Given the description of an element on the screen output the (x, y) to click on. 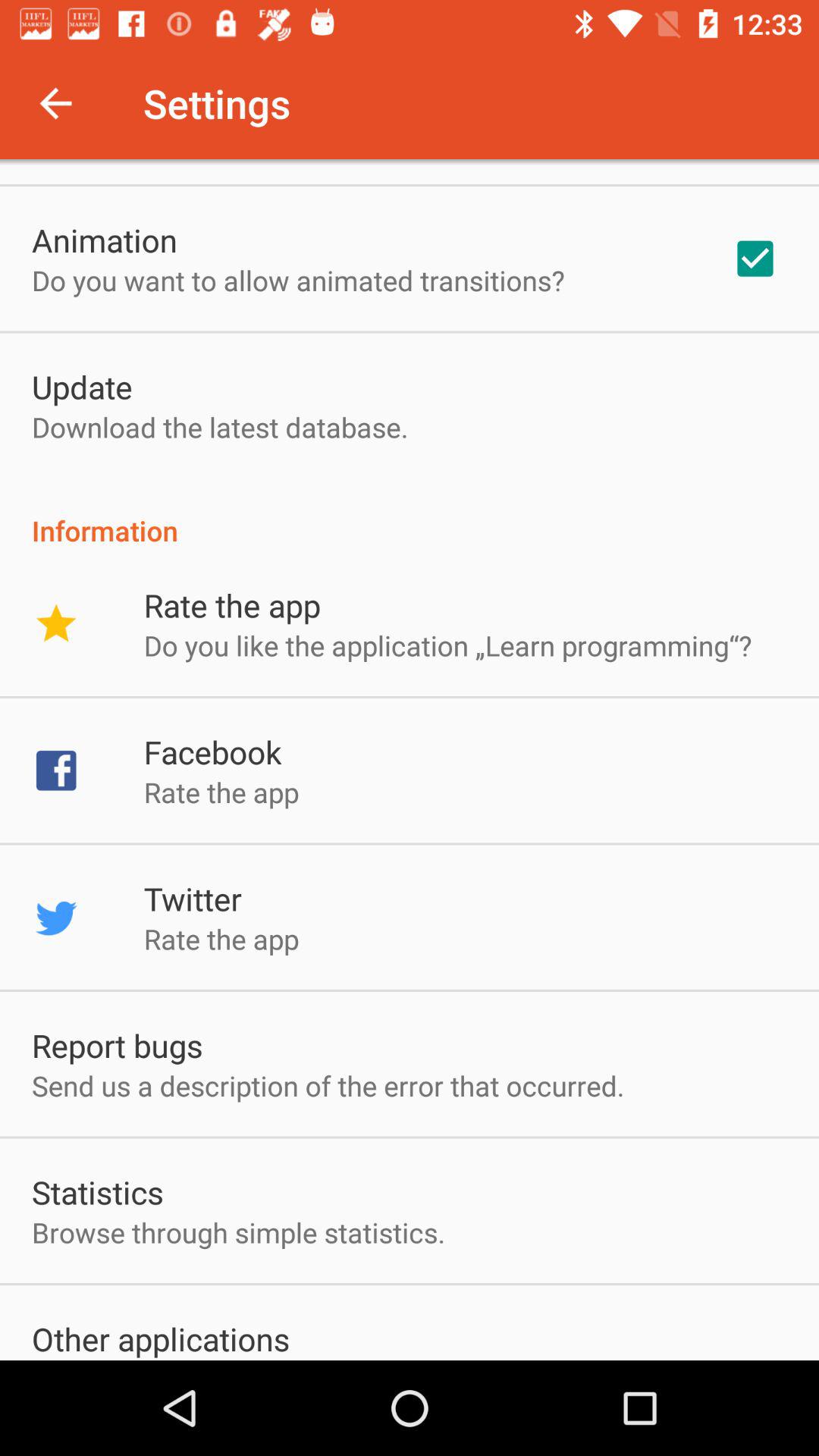
open the app to the right of the do you want app (755, 258)
